Given the description of an element on the screen output the (x, y) to click on. 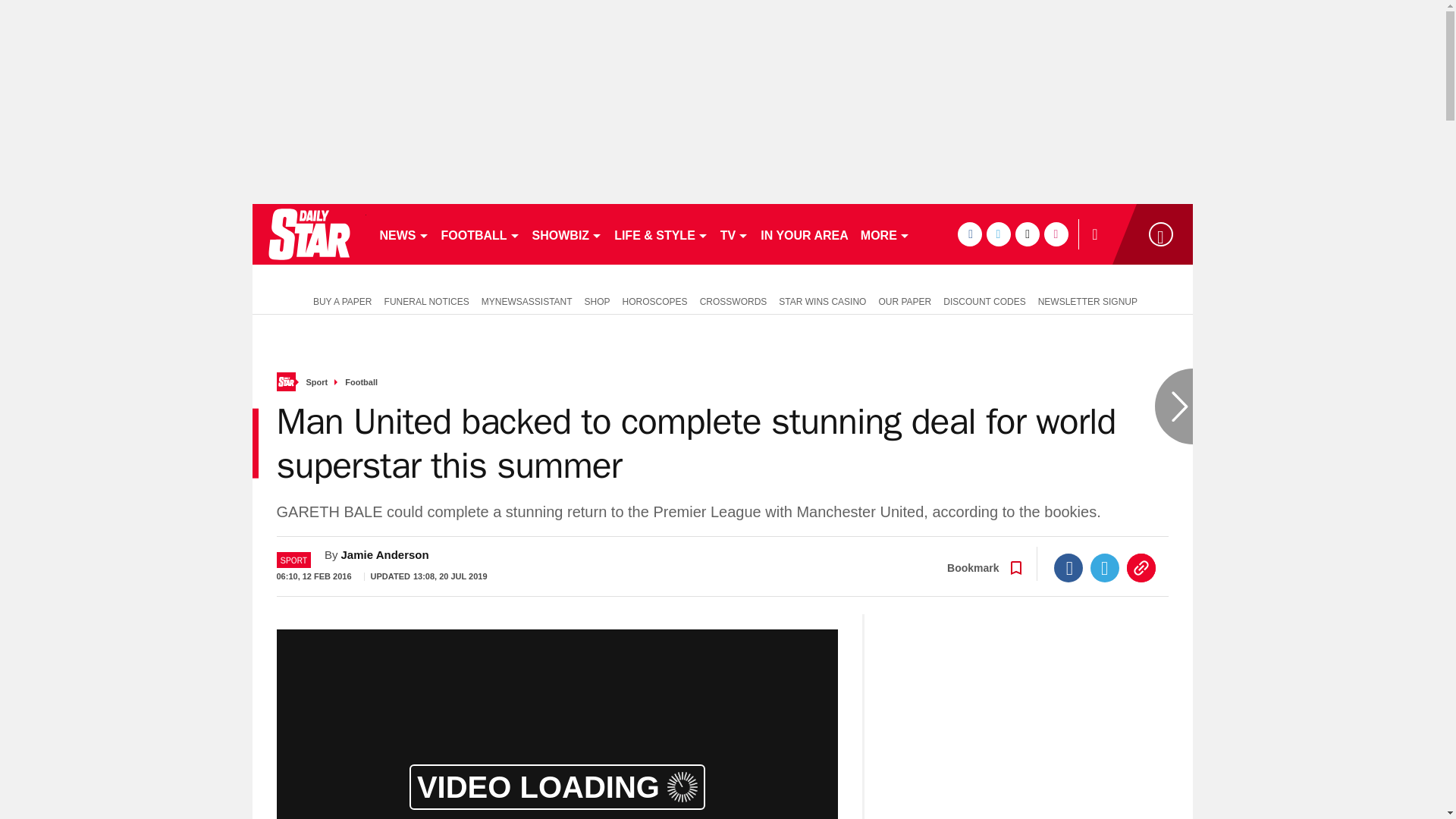
FOOTBALL (480, 233)
Facebook (1068, 567)
NEWS (402, 233)
instagram (1055, 233)
Twitter (1104, 567)
dailystar (308, 233)
twitter (997, 233)
tiktok (1026, 233)
SHOWBIZ (566, 233)
facebook (968, 233)
